Given the description of an element on the screen output the (x, y) to click on. 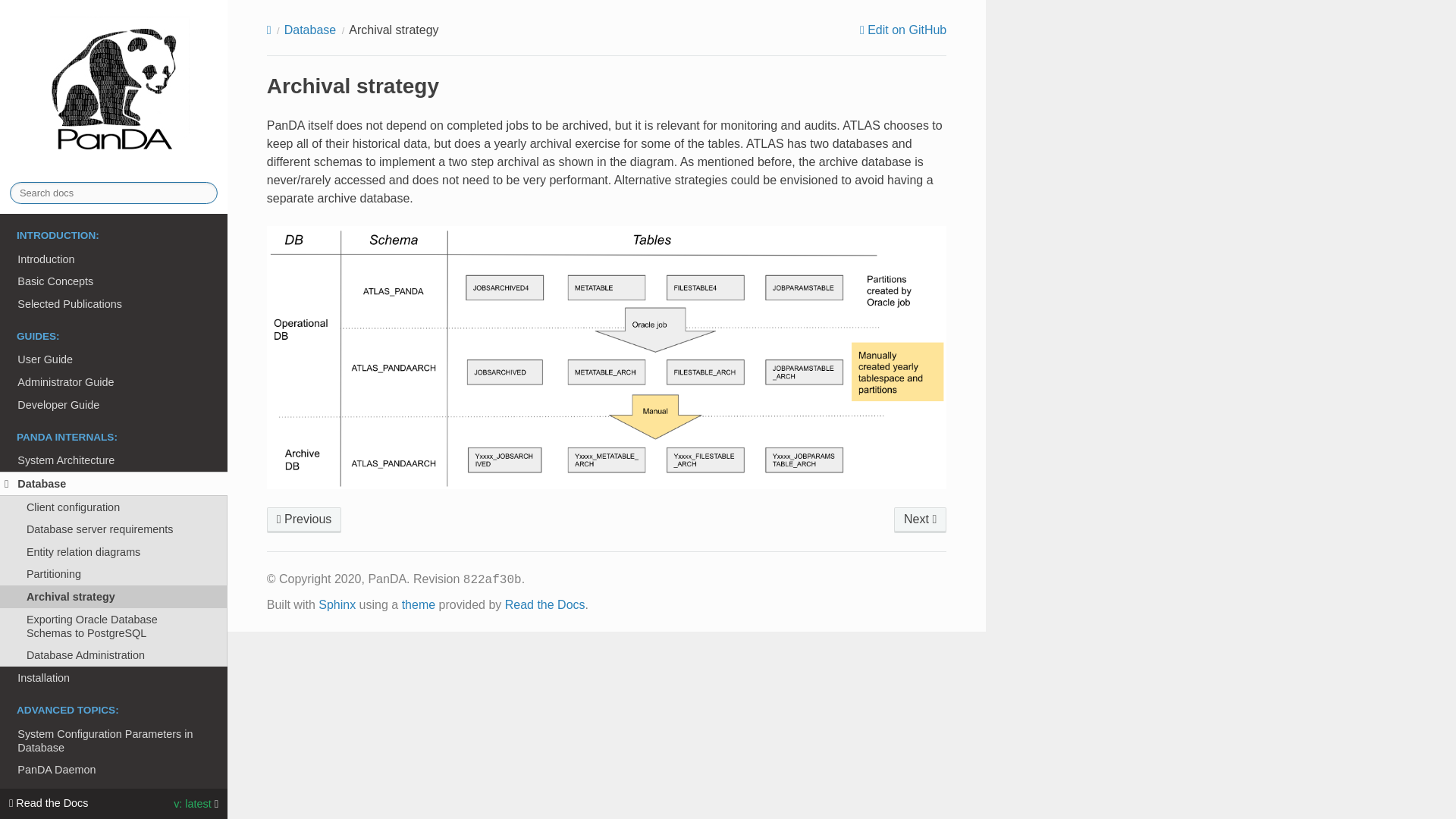
System Architecture (113, 459)
Developer Guide (113, 404)
Basic Concepts (113, 281)
Exporting Oracle Database Schemas to PostgreSQL (919, 519)
Partitioning (113, 574)
User Guide (113, 359)
Installation (113, 677)
Database (309, 29)
Selected Publications (113, 303)
Database server requirements (113, 528)
Introduction (113, 259)
Database (113, 483)
PanDA Daemon (113, 769)
Archival strategy (113, 596)
Client configuration (113, 507)
